Given the description of an element on the screen output the (x, y) to click on. 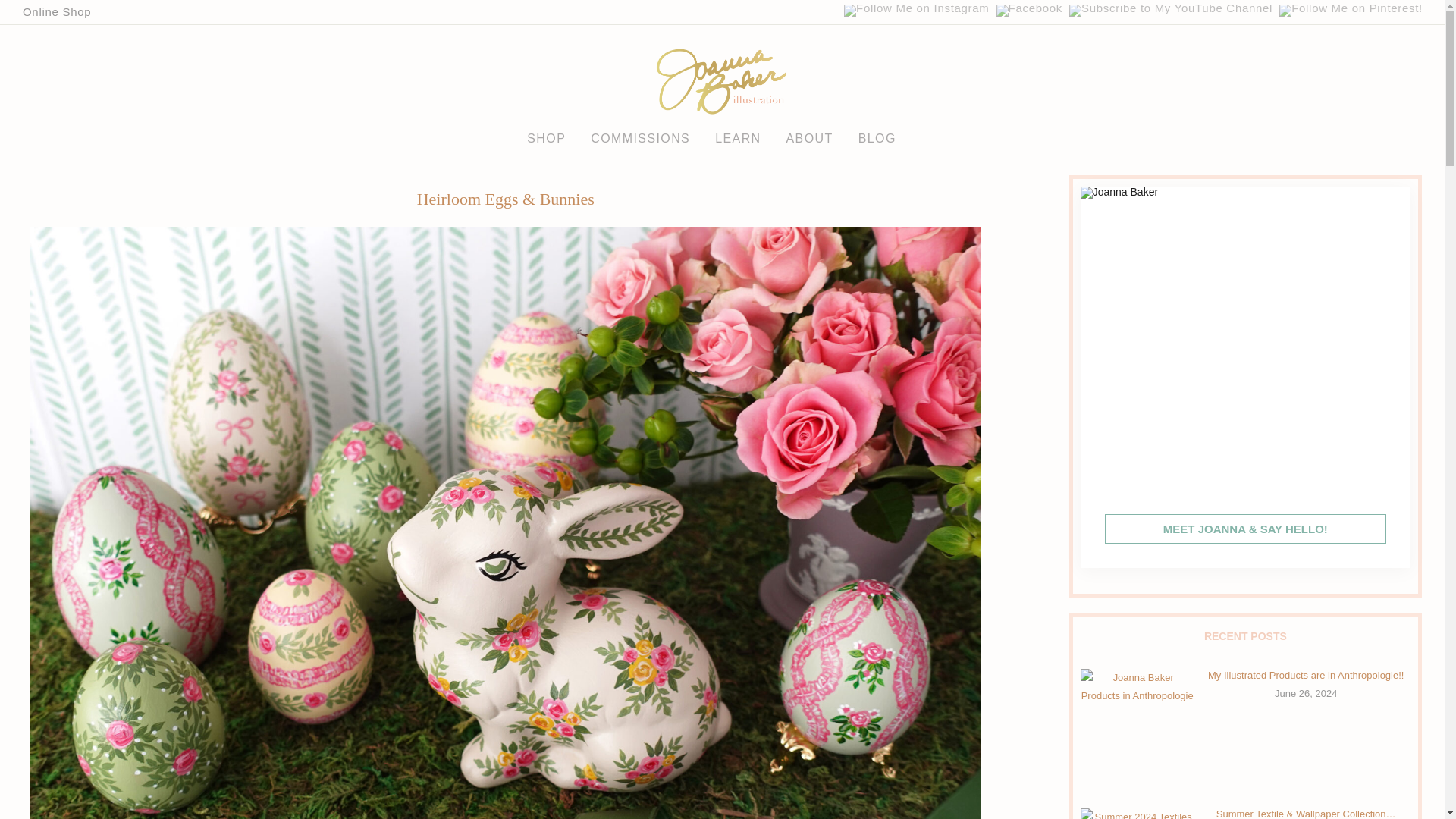
ABOUT (809, 132)
SHOP (546, 132)
BLOG (877, 132)
Online Shop (56, 11)
COMMISSIONS (640, 132)
My Illustrated Products are in Anthropologie!! (1305, 674)
LEARN (737, 132)
